Given the description of an element on the screen output the (x, y) to click on. 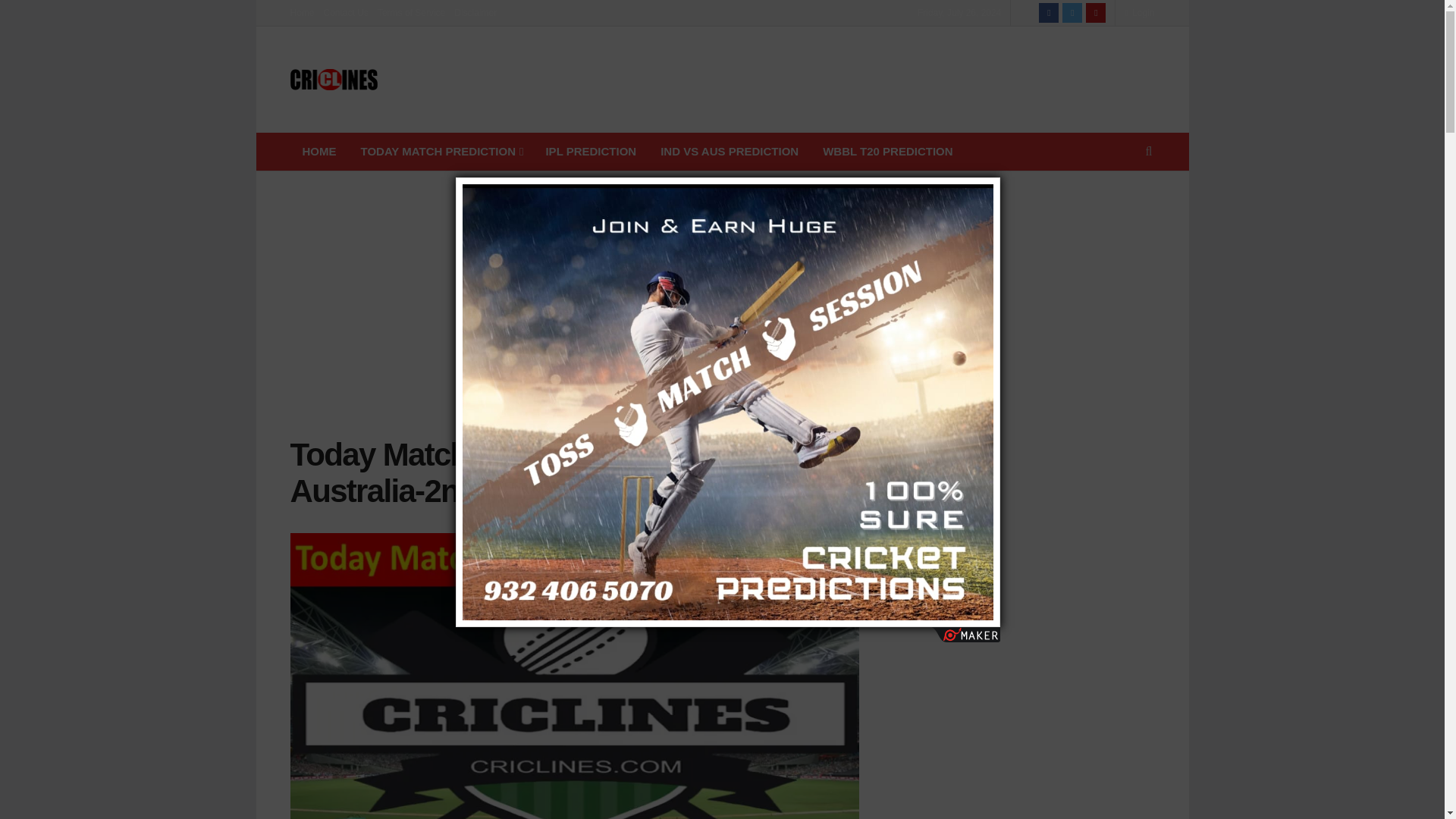
Terms of Service (411, 12)
Advertisement (878, 77)
Login (1139, 12)
HOME (318, 151)
TODAY MATCH PREDICTION (441, 151)
Disclaimer (475, 12)
WBBL T20 PREDICTION (886, 151)
IPL PREDICTION (589, 151)
Home (301, 12)
Contact Us (345, 12)
IND VS AUS PREDICTION (728, 151)
